Given the description of an element on the screen output the (x, y) to click on. 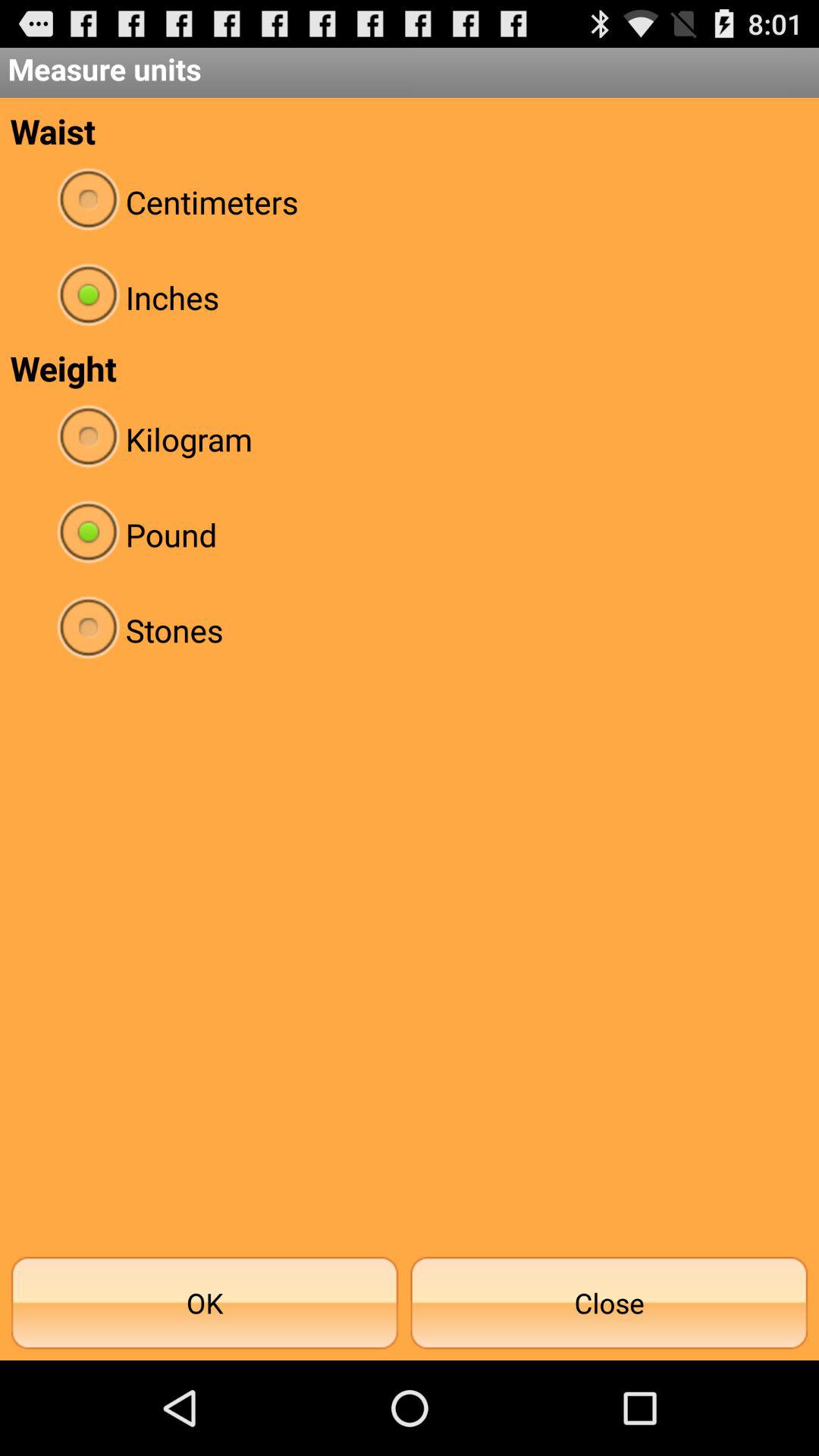
choose app above weight (409, 297)
